Given the description of an element on the screen output the (x, y) to click on. 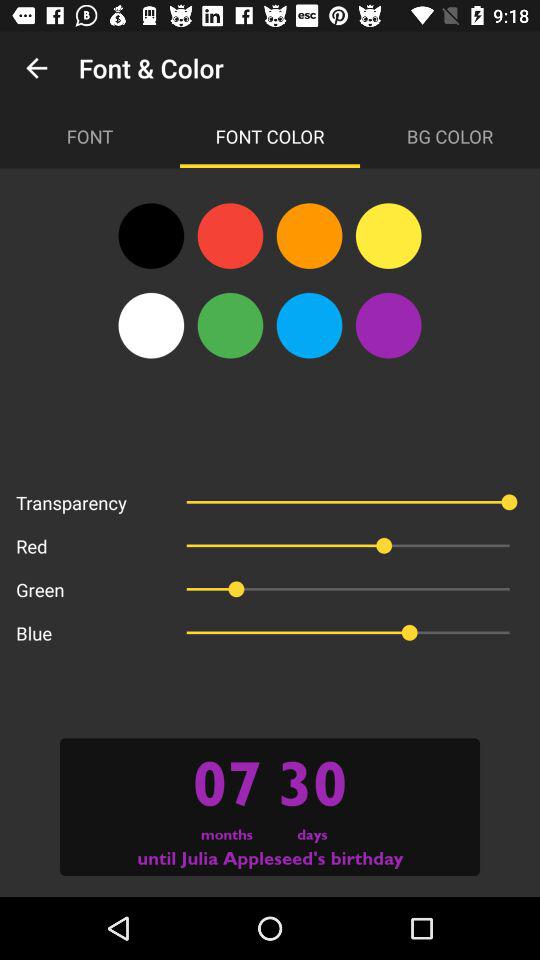
select the bg color item (450, 136)
